Given the description of an element on the screen output the (x, y) to click on. 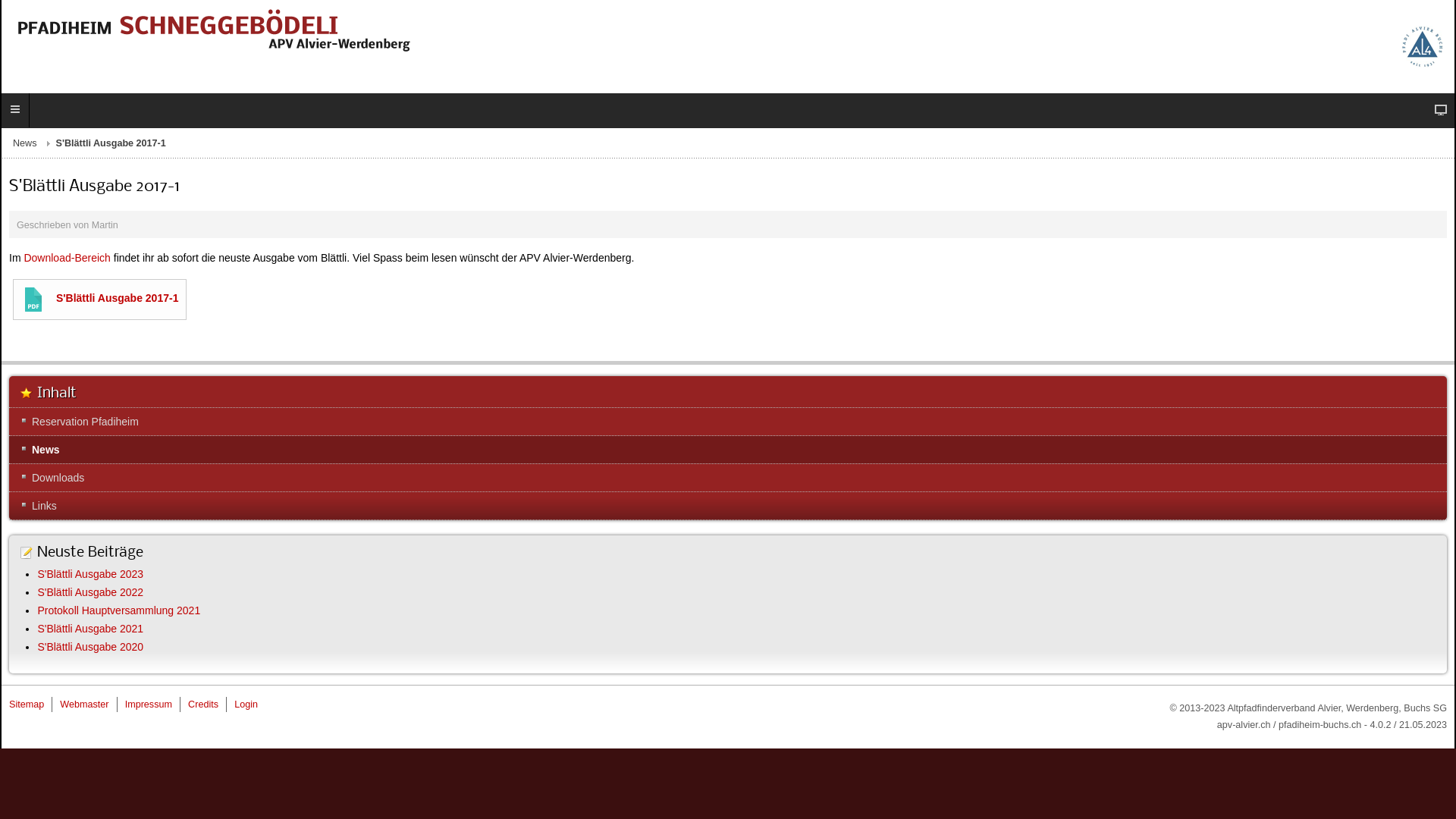
Pfadi Alvier Buchs Element type: hover (1422, 45)
Sitemap Element type: text (26, 704)
Download-Bereich Element type: text (66, 257)
Impressum Element type: text (148, 704)
Downloads Element type: text (727, 477)
Reservation Pfadiheim Element type: text (727, 421)
Webmaster Element type: text (83, 704)
News Element type: text (727, 449)
Links Element type: text (727, 505)
Login Element type: text (245, 704)
Protokoll Hauptversammlung 2021 Element type: text (118, 610)
News Element type: text (34, 142)
Credits Element type: text (203, 704)
